Given the description of an element on the screen output the (x, y) to click on. 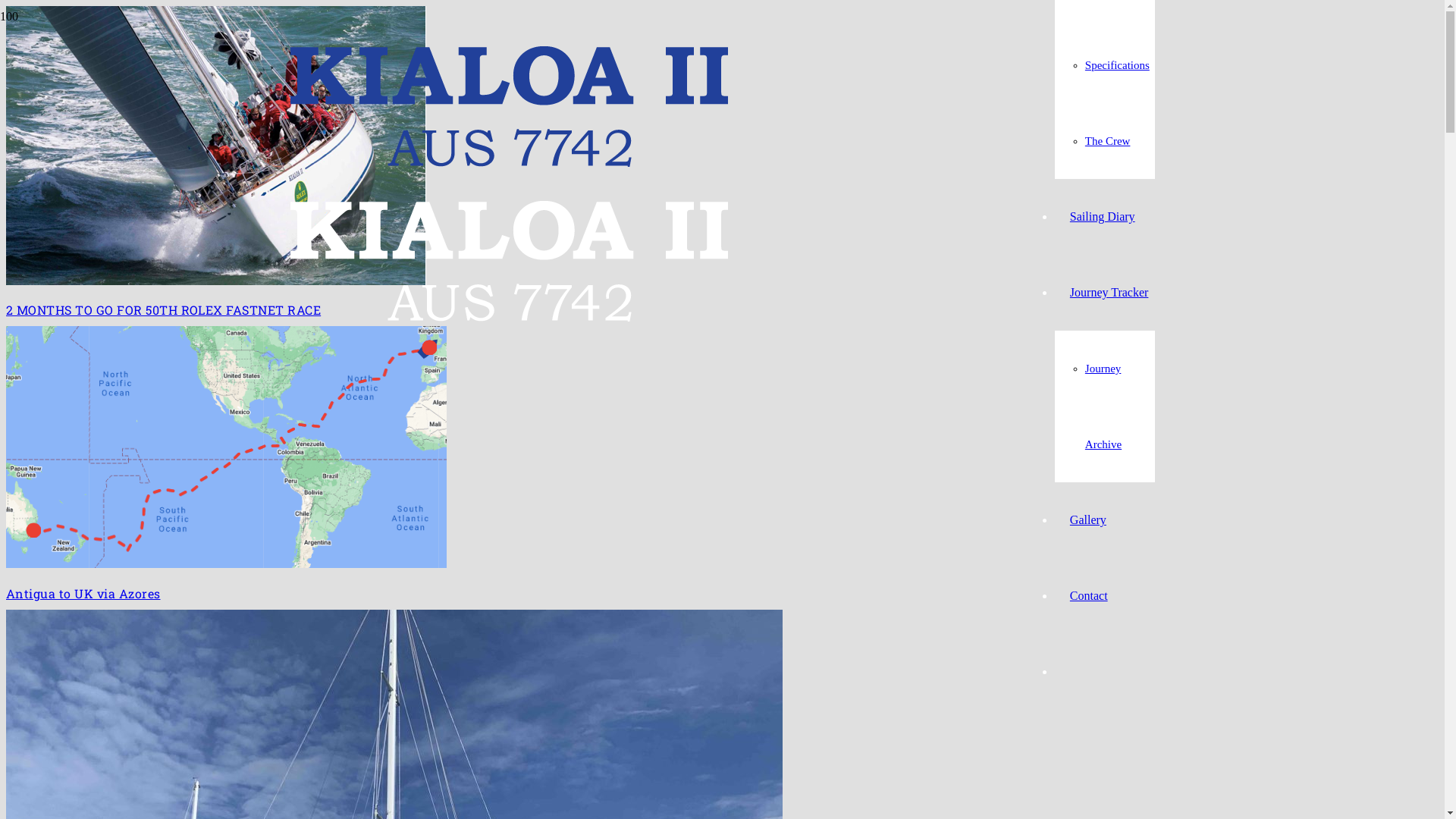
2 MONTHS TO GO FOR 50TH ROLEX FASTNET RACE Element type: text (163, 309)
Sailing Diary Element type: text (1102, 216)
Journey Tracker Element type: text (1109, 291)
Specifications Element type: text (1117, 65)
Contact Element type: text (1088, 595)
The Crew Element type: text (1107, 140)
Journey Archive Element type: text (1103, 406)
Antigua to UK via Azores Element type: text (83, 593)
Gallery Element type: text (1087, 519)
